Given the description of an element on the screen output the (x, y) to click on. 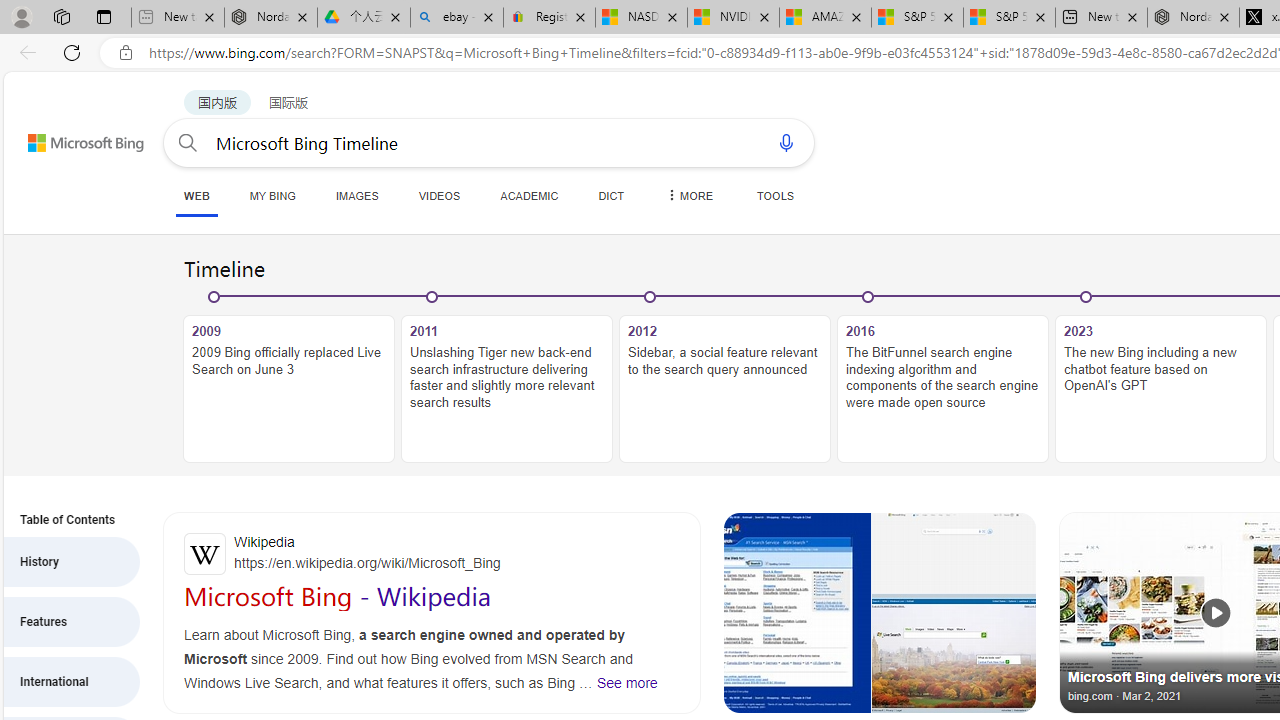
20092009 Bing officially replaced Live Search on June 3 (289, 378)
ACADEMIC (529, 195)
WEB (196, 196)
DICT (611, 195)
IMAGES (356, 195)
Search button (187, 142)
MORE (688, 195)
